Given the description of an element on the screen output the (x, y) to click on. 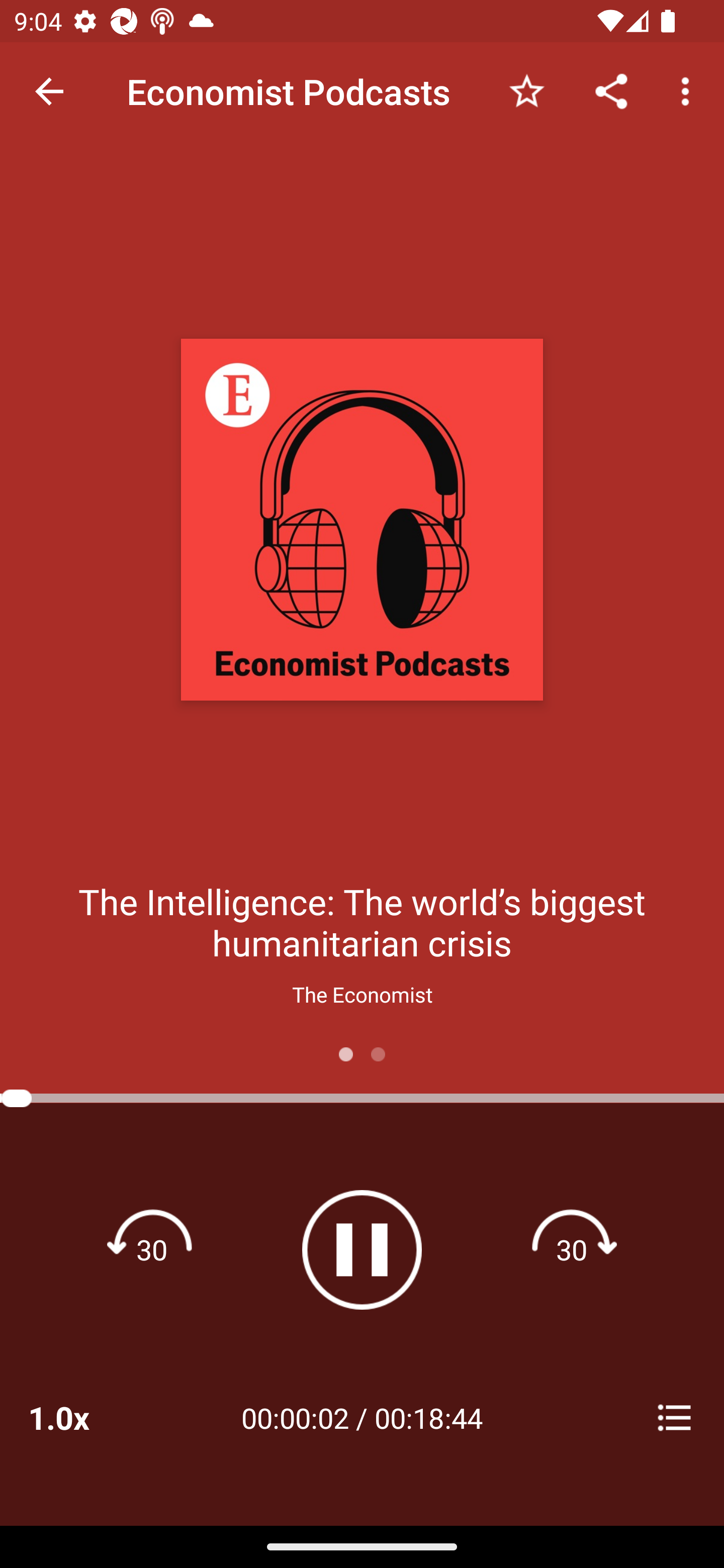
Navigate up (49, 91)
Add to Favorites (526, 90)
Share... (611, 90)
More options (688, 90)
The Economist (361, 994)
Pause (361, 1249)
Rewind (151, 1249)
Fast forward (571, 1249)
1.0x Playback Speeds (84, 1417)
00:18:44 (428, 1417)
